Given the description of an element on the screen output the (x, y) to click on. 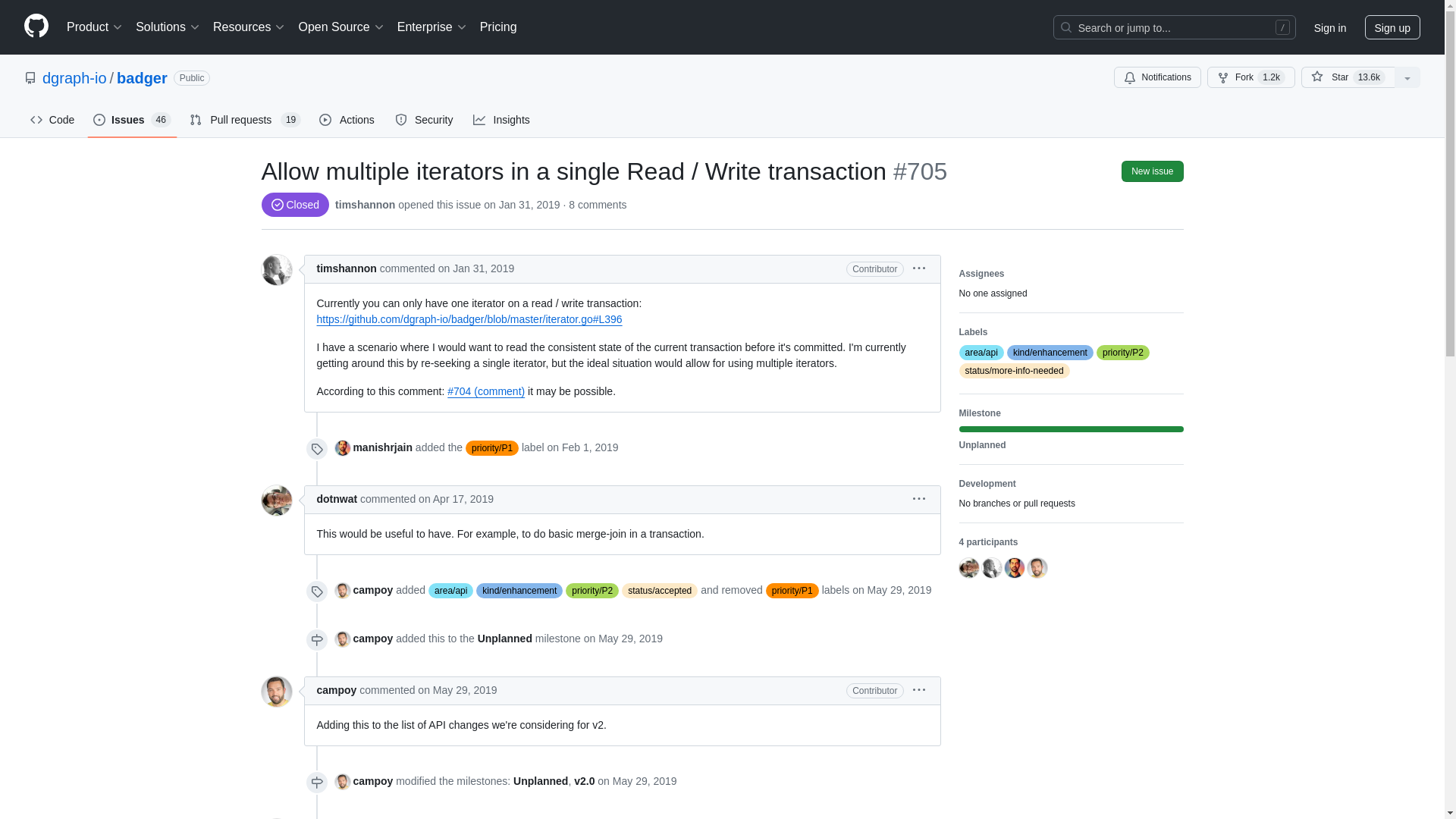
19 (291, 119)
46 (161, 119)
Product (95, 27)
Resources (249, 27)
Solutions (167, 27)
Open Source (341, 27)
13,606 (1369, 77)
1,162 (1271, 77)
Status: Closed (294, 204)
